Given the description of an element on the screen output the (x, y) to click on. 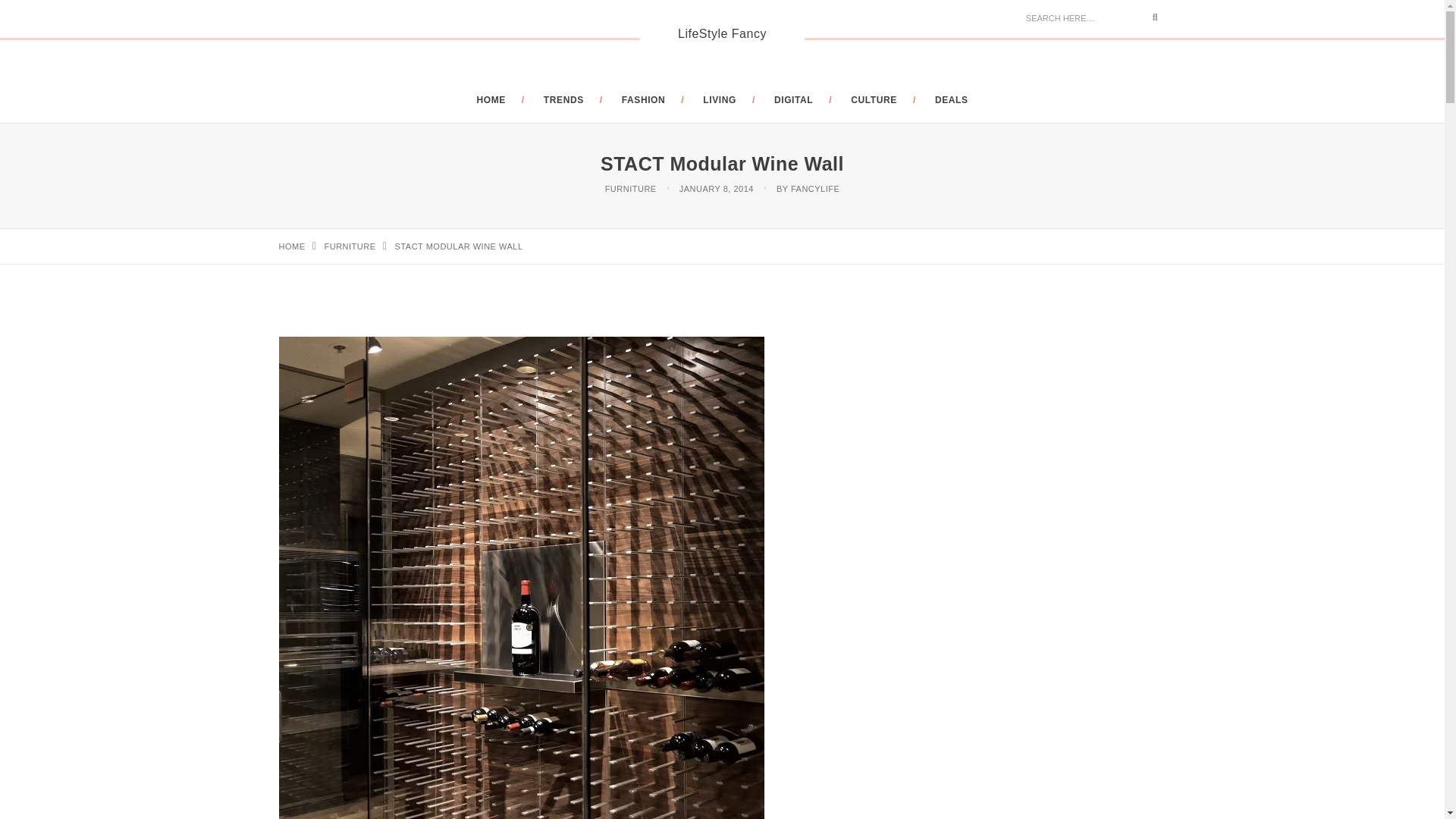
FANCYLIFE (815, 188)
FURNITURE (349, 245)
HOME (490, 100)
Furniture (349, 245)
CULTURE (873, 100)
LIVING (719, 100)
DIGITAL (793, 100)
TRENDS (563, 100)
FASHION (643, 100)
Browse to: Home (292, 245)
